Given the description of an element on the screen output the (x, y) to click on. 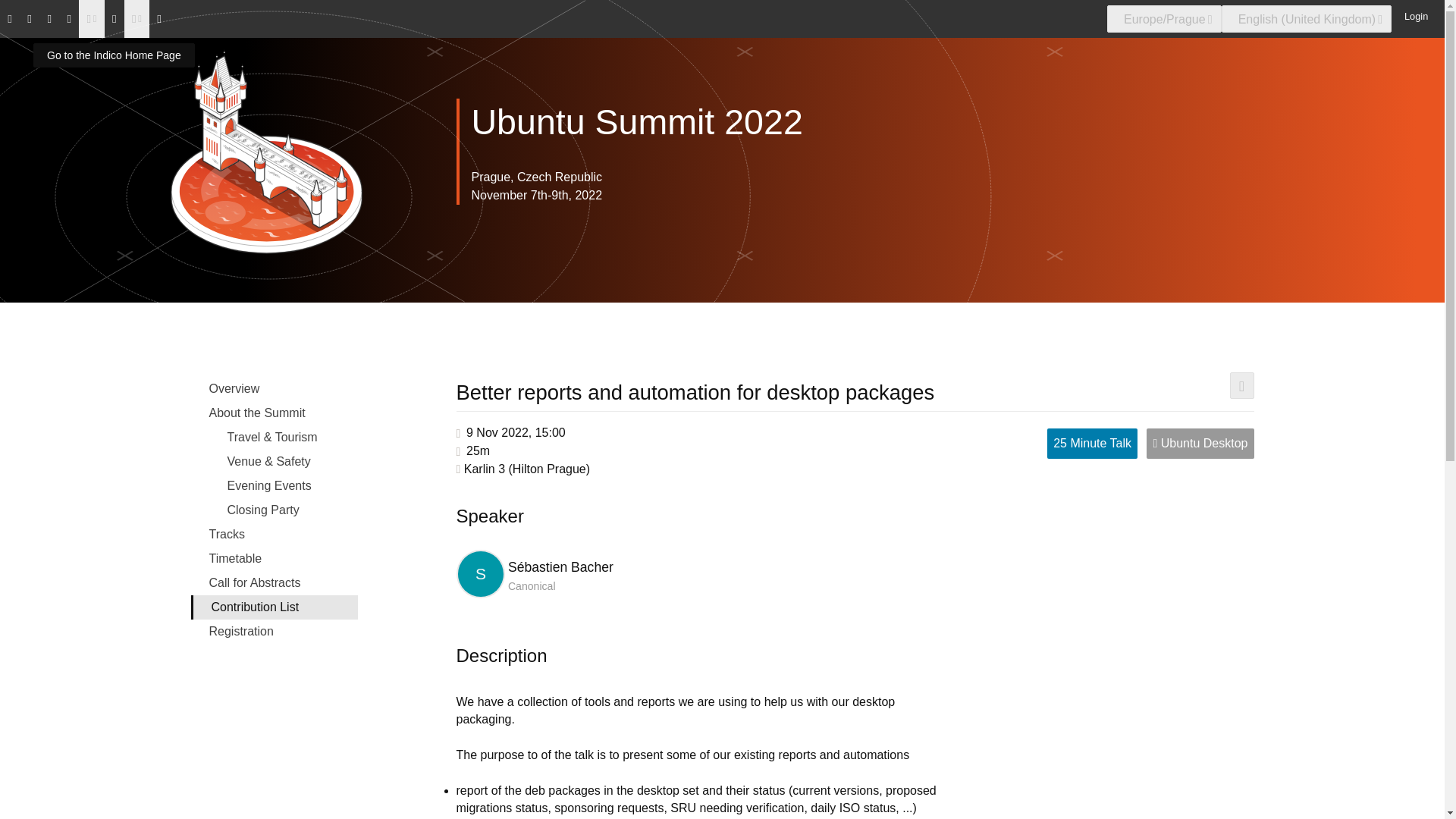
Closing Party (274, 509)
About the Summit (274, 413)
Evening Events (274, 485)
Overview (274, 388)
Canonical (532, 585)
Tracks (274, 534)
Login (1412, 15)
Duration (477, 450)
Timetable (274, 558)
